Given the description of an element on the screen output the (x, y) to click on. 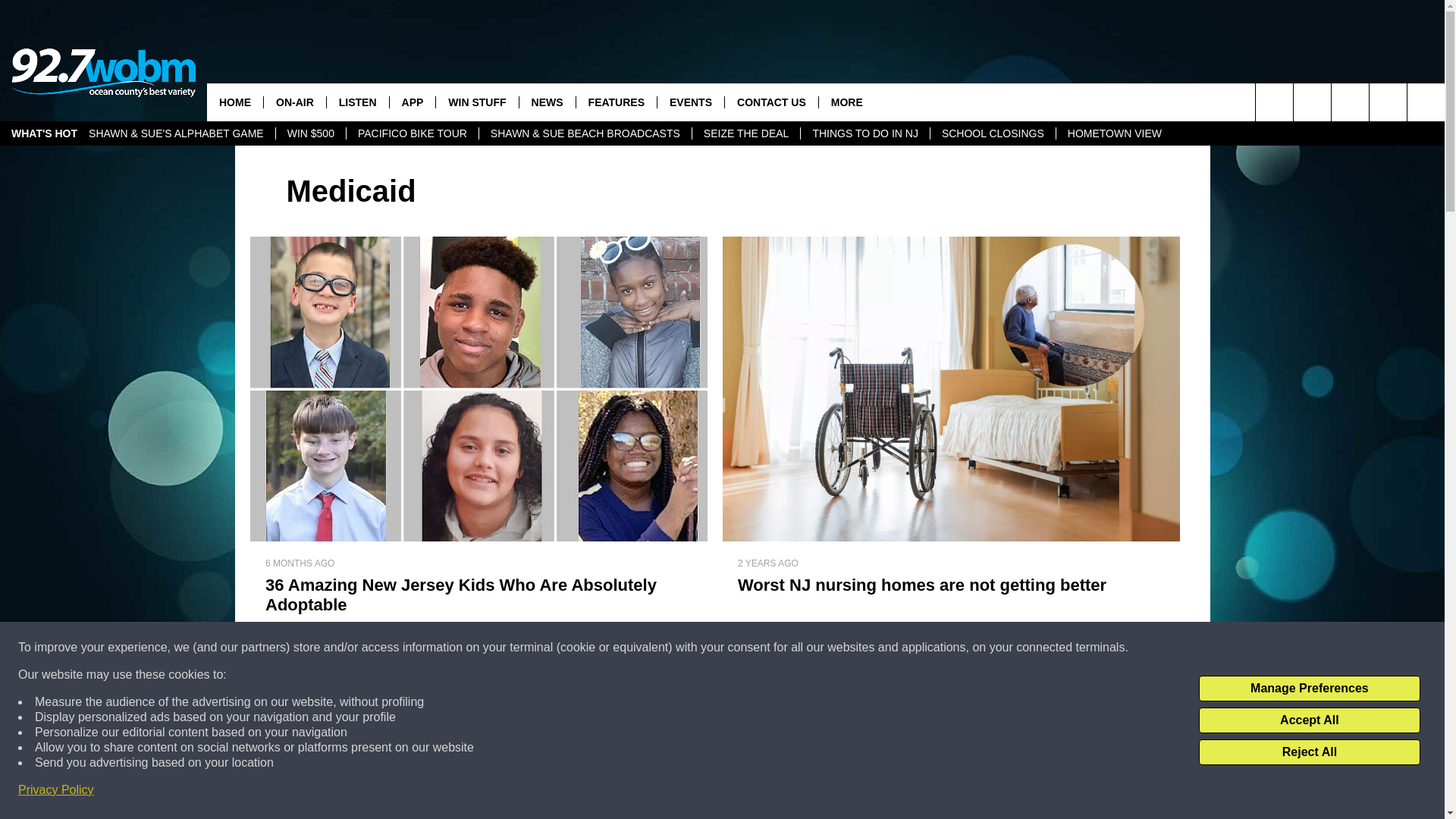
Accept All (1309, 720)
Reject All (1309, 751)
HOME (234, 102)
Privacy Policy (55, 789)
THINGS TO DO IN NJ (864, 133)
PACIFICO BIKE TOUR (412, 133)
SEIZE THE DEAL (745, 133)
HOMETOWN VIEW (1114, 133)
SCHOOL CLOSINGS (992, 133)
ON-AIR (294, 102)
APP (411, 102)
Manage Preferences (1309, 688)
LISTEN (357, 102)
